Given the description of an element on the screen output the (x, y) to click on. 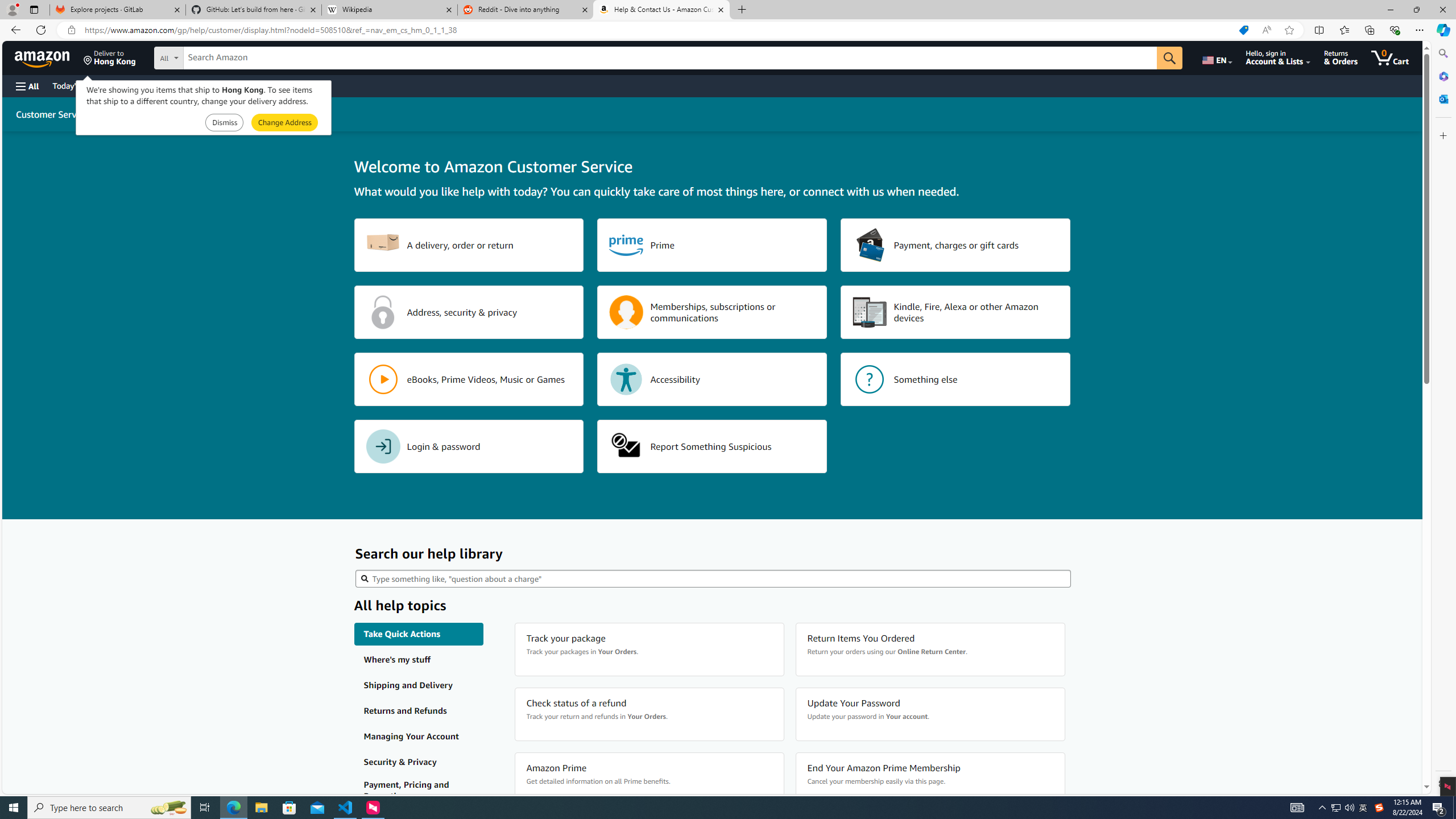
Memberships, subscriptions or communications (711, 312)
Registry (205, 85)
Payment, charges or gift cards (955, 244)
Class: help-topics (418, 790)
Skip to main content (48, 56)
Reddit - Dive into anything (525, 9)
Deliver to Hong Kong (109, 57)
Side bar (1443, 418)
Report Something Suspicious (711, 446)
Choose a language for shopping. (1216, 57)
